Given the description of an element on the screen output the (x, y) to click on. 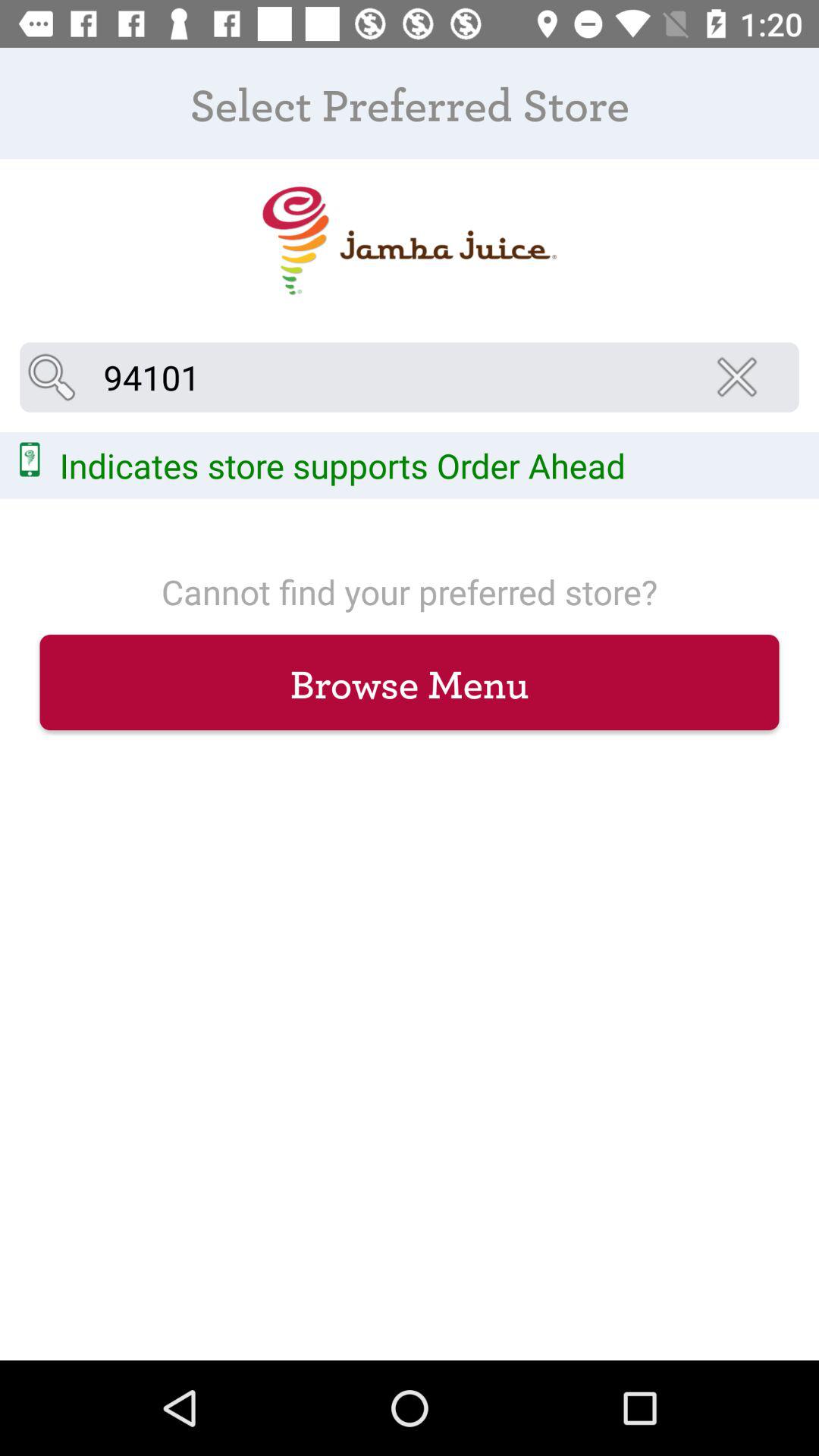
tap icon at the top right corner (742, 376)
